Given the description of an element on the screen output the (x, y) to click on. 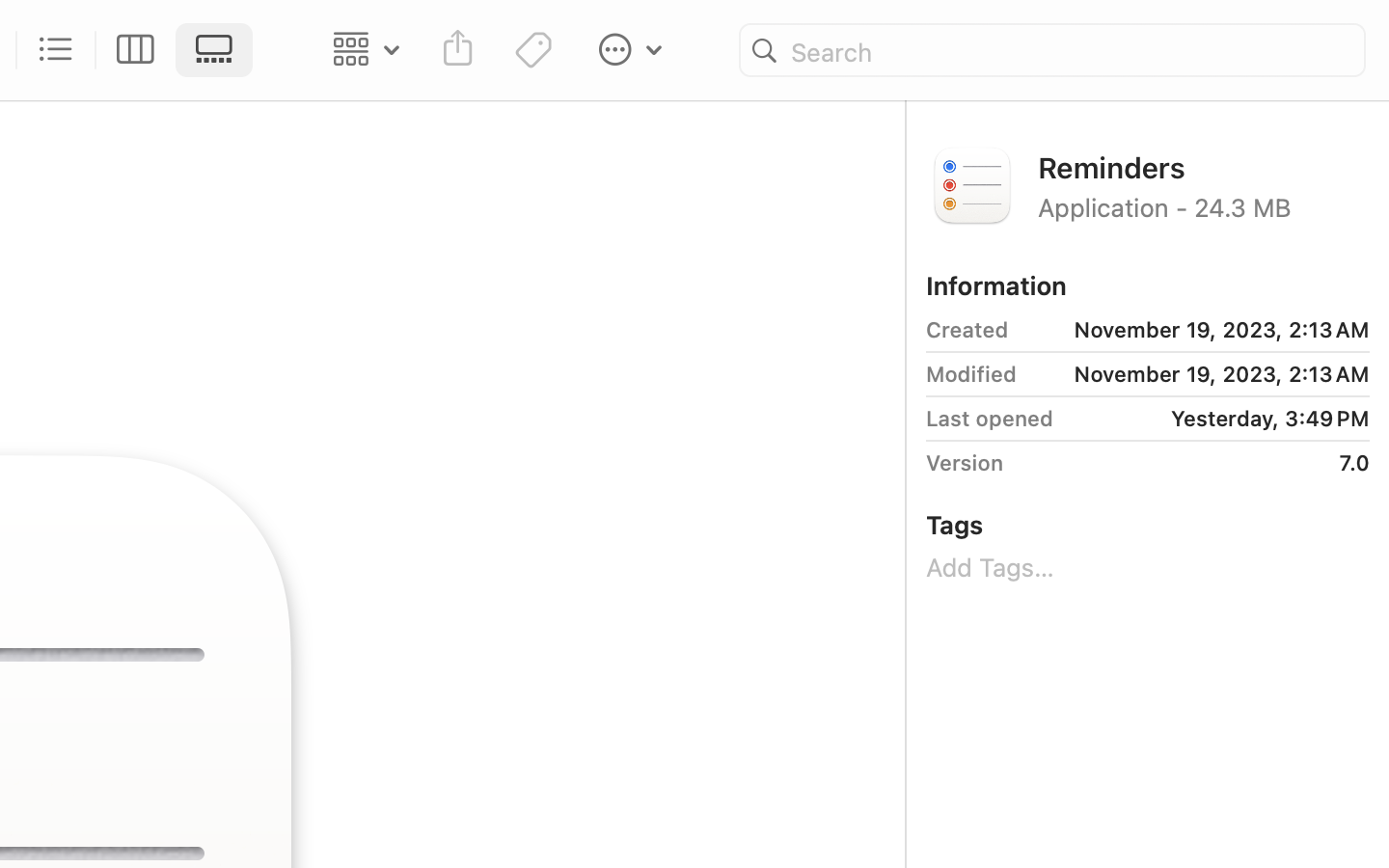
Reminders Element type: AXStaticText (1203, 165)
Information Element type: AXStaticText (996, 285)
Application - 24.3 MB Element type: AXStaticText (1203, 205)
Last opened Element type: AXStaticText (989, 418)
7.0 Element type: AXStaticText (1192, 462)
